Given the description of an element on the screen output the (x, y) to click on. 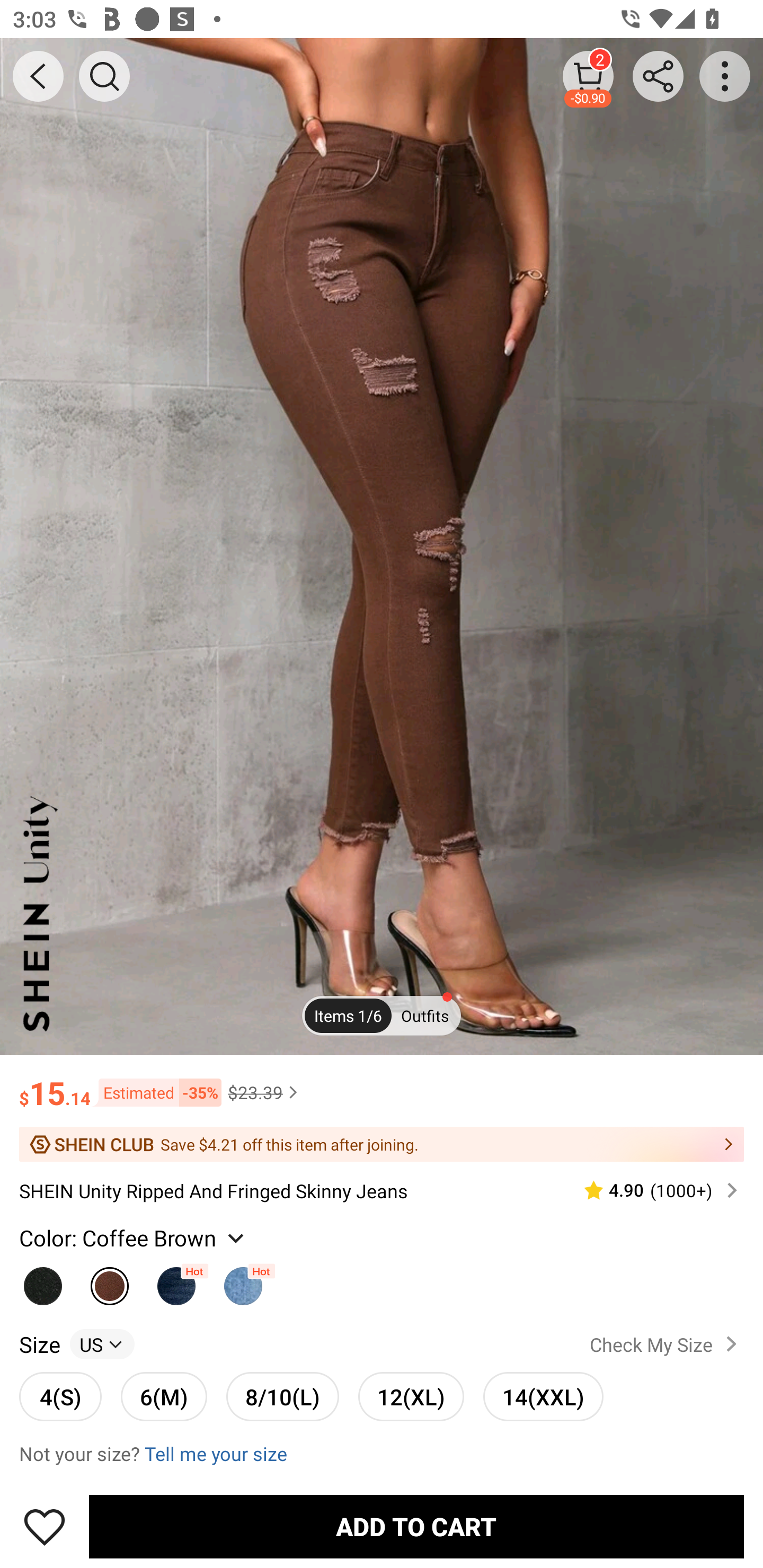
BACK (38, 75)
2 -$0.90 (588, 75)
Items 1/6 (347, 1015)
Outfits (424, 1015)
Estimated -35% (155, 1092)
$23.39 (265, 1091)
Save $4.21 off this item after joining. (381, 1144)
4.90 (1000‎+) (653, 1189)
Color: Coffee Brown (133, 1237)
Black (42, 1280)
Coffee Brown (109, 1280)
Dark Wash (176, 1280)
Light Wash (242, 1280)
Size (39, 1344)
US (102, 1344)
Check My Size (666, 1344)
4(S) 4(S)unselected option (60, 1396)
6(M) 6(M)unselected option (163, 1396)
8/10(L) 8/10(L)unselected option (282, 1396)
12(XL) 12(XL)unselected option (410, 1396)
14(XXL) 14(XXL)unselected option (542, 1396)
Not your size? Tell me your size (381, 1453)
ADD TO CART (416, 1526)
Save (44, 1526)
